Given the description of an element on the screen output the (x, y) to click on. 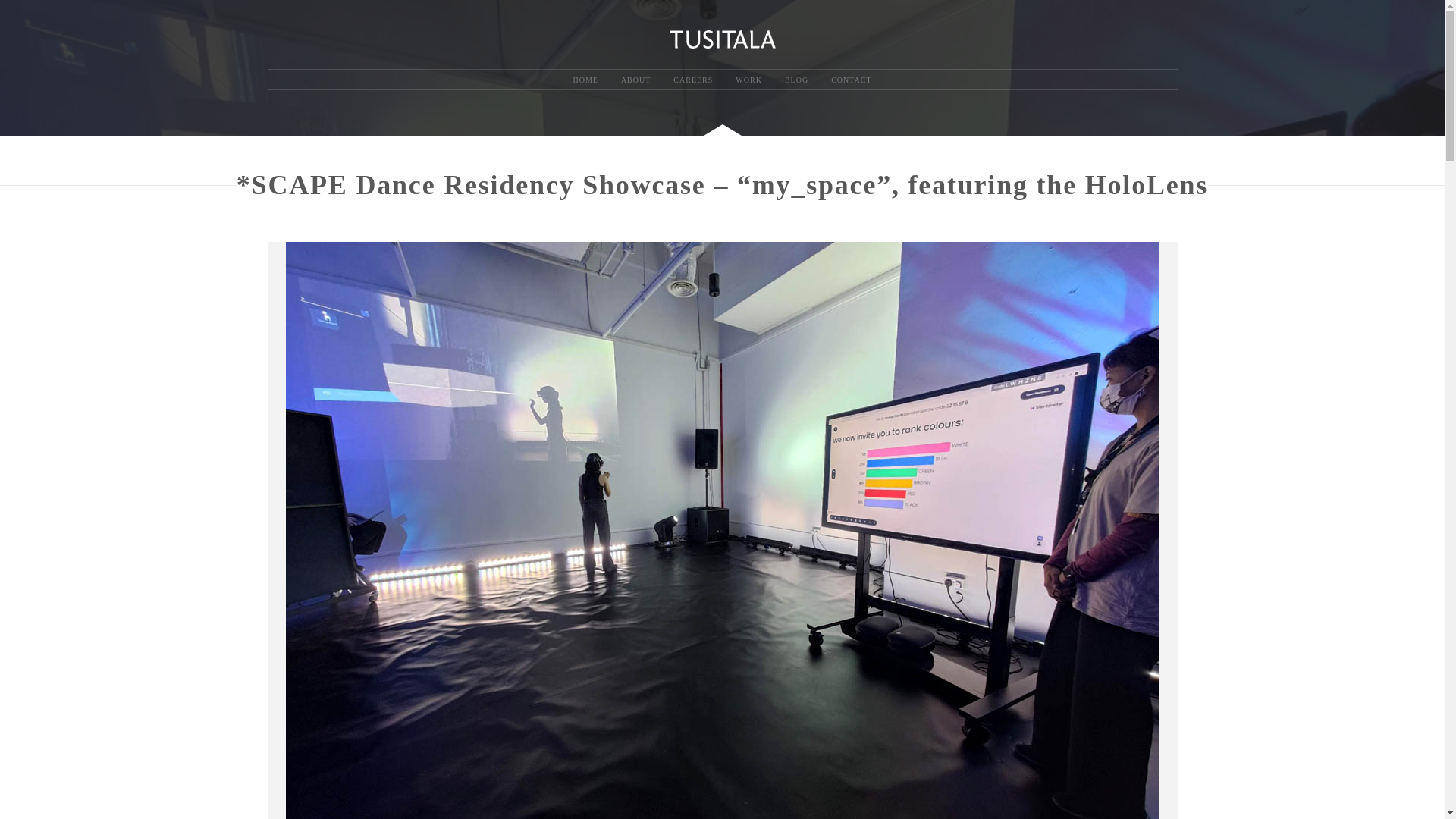
BLOG (796, 80)
CAREERS (692, 80)
WORK (748, 80)
CONTACT (850, 80)
ABOUT (635, 80)
HOME (584, 80)
